Given the description of an element on the screen output the (x, y) to click on. 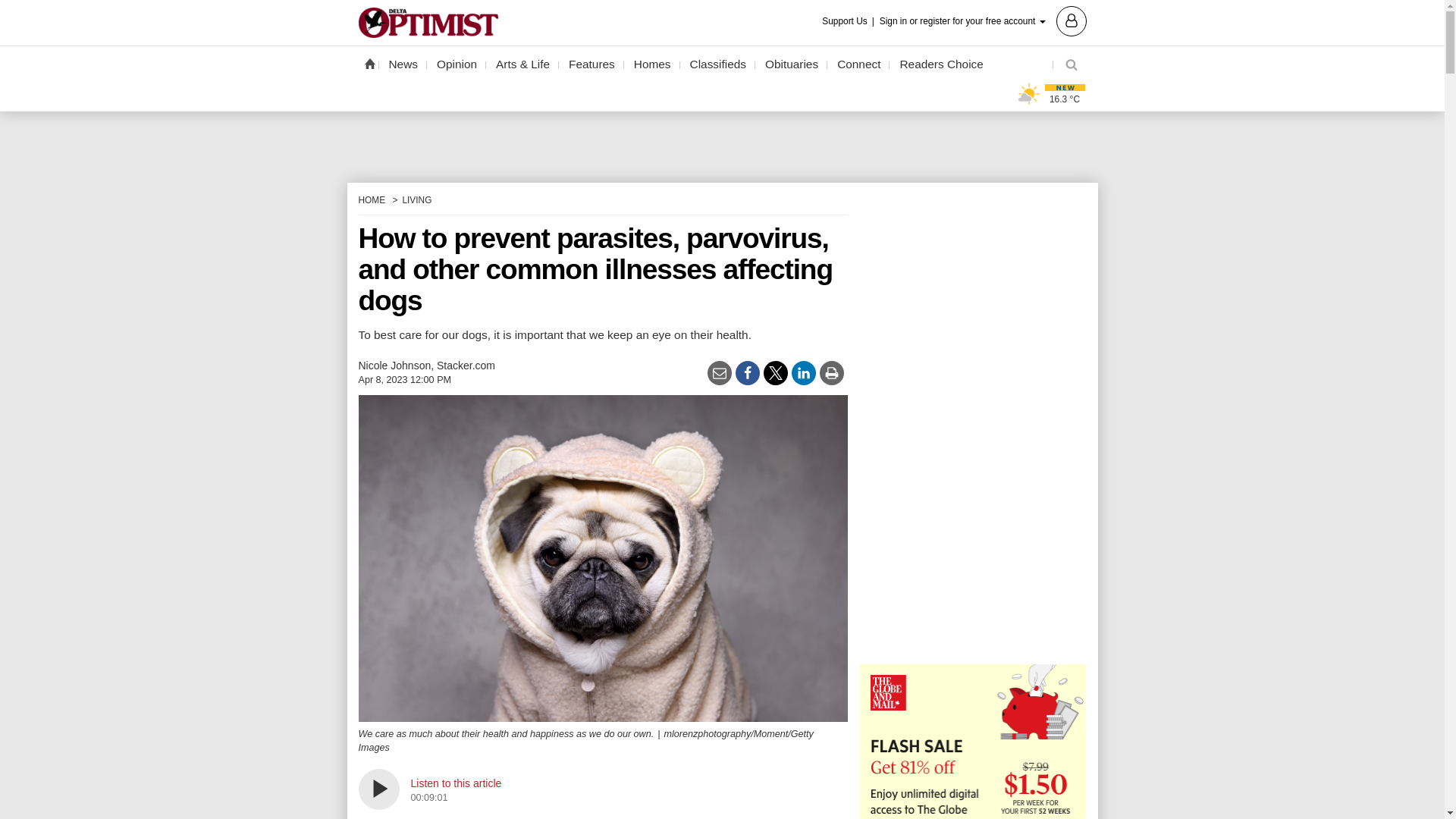
3rd party ad content (721, 133)
Sign in or register for your free account (982, 20)
Support Us (849, 21)
Opinion (456, 64)
News (403, 64)
Home (368, 63)
